Given the description of an element on the screen output the (x, y) to click on. 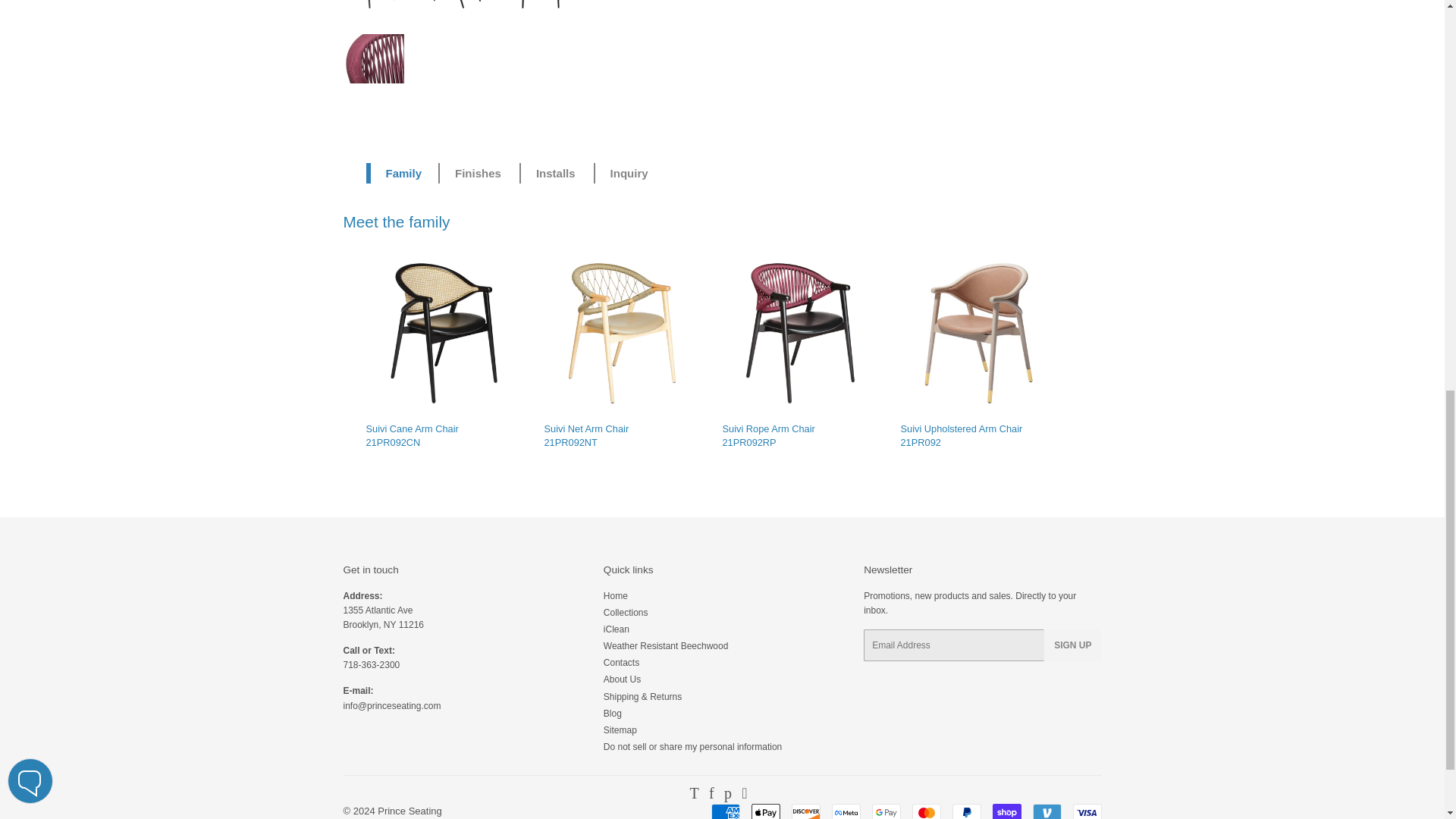
Prince Seating on Instagram (743, 795)
tel:718-363-2300 (370, 665)
Shop Pay (1005, 811)
Prince Seating on Twitter (693, 795)
Venmo (1046, 811)
Discover (806, 811)
Prince Seating on Pinterest (727, 795)
Mastercard (925, 811)
Prince Seating on Facebook (711, 795)
American Express (725, 811)
Apple Pay (764, 811)
Visa (1085, 811)
Meta Pay (845, 811)
PayPal (966, 811)
Google Pay (886, 811)
